Given the description of an element on the screen output the (x, y) to click on. 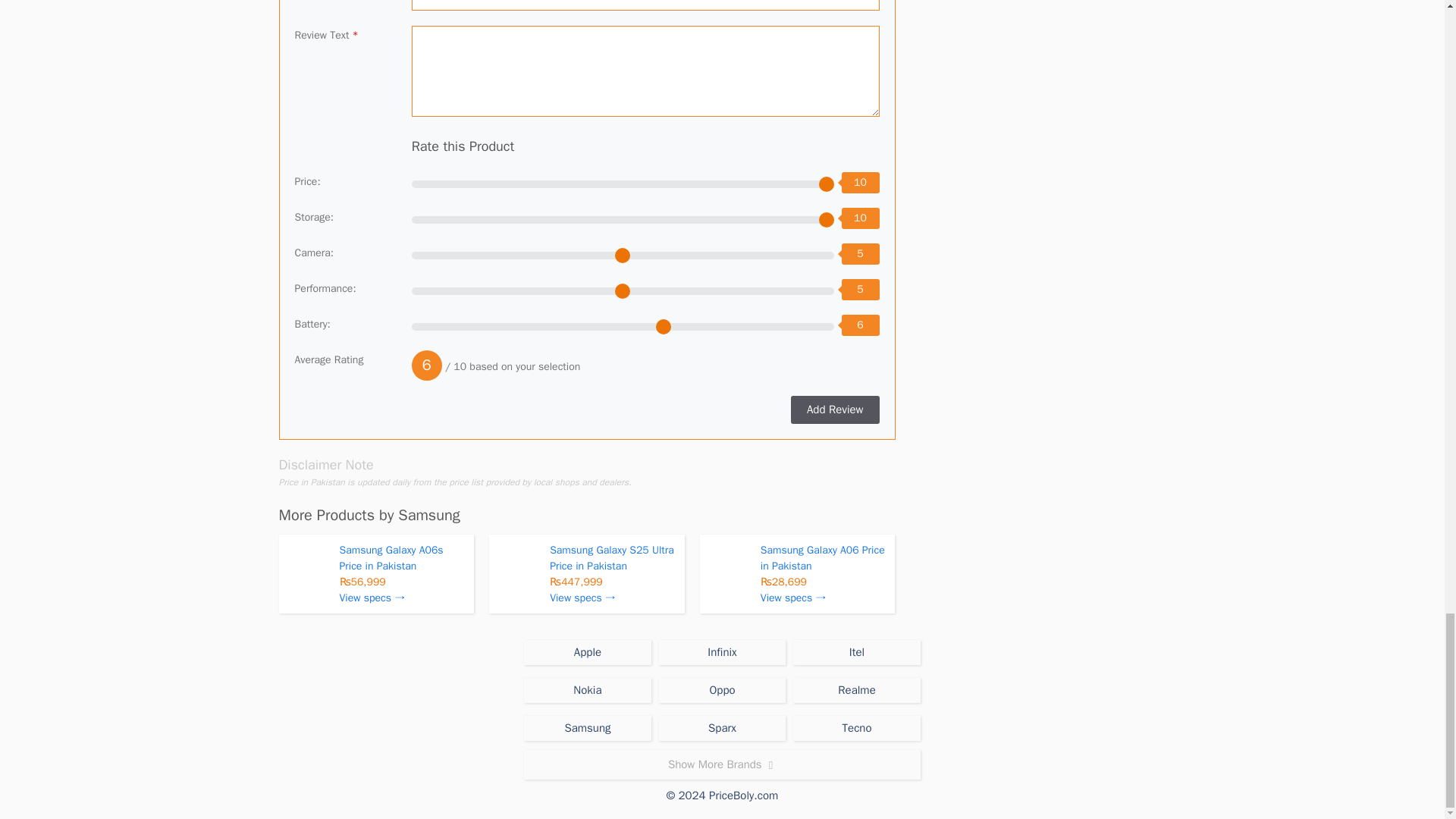
6 (623, 326)
10 (623, 184)
Add Review (834, 409)
10 (623, 219)
Add Review (834, 409)
Samsung (428, 515)
Samsung Galaxy S25 Ultra Price in Pakistan (612, 557)
Samsung Galaxy A06 Price in Pakistan (822, 557)
5 (623, 255)
Samsung Galaxy A06s Price in Pakistan (391, 557)
5 (623, 290)
